Given the description of an element on the screen output the (x, y) to click on. 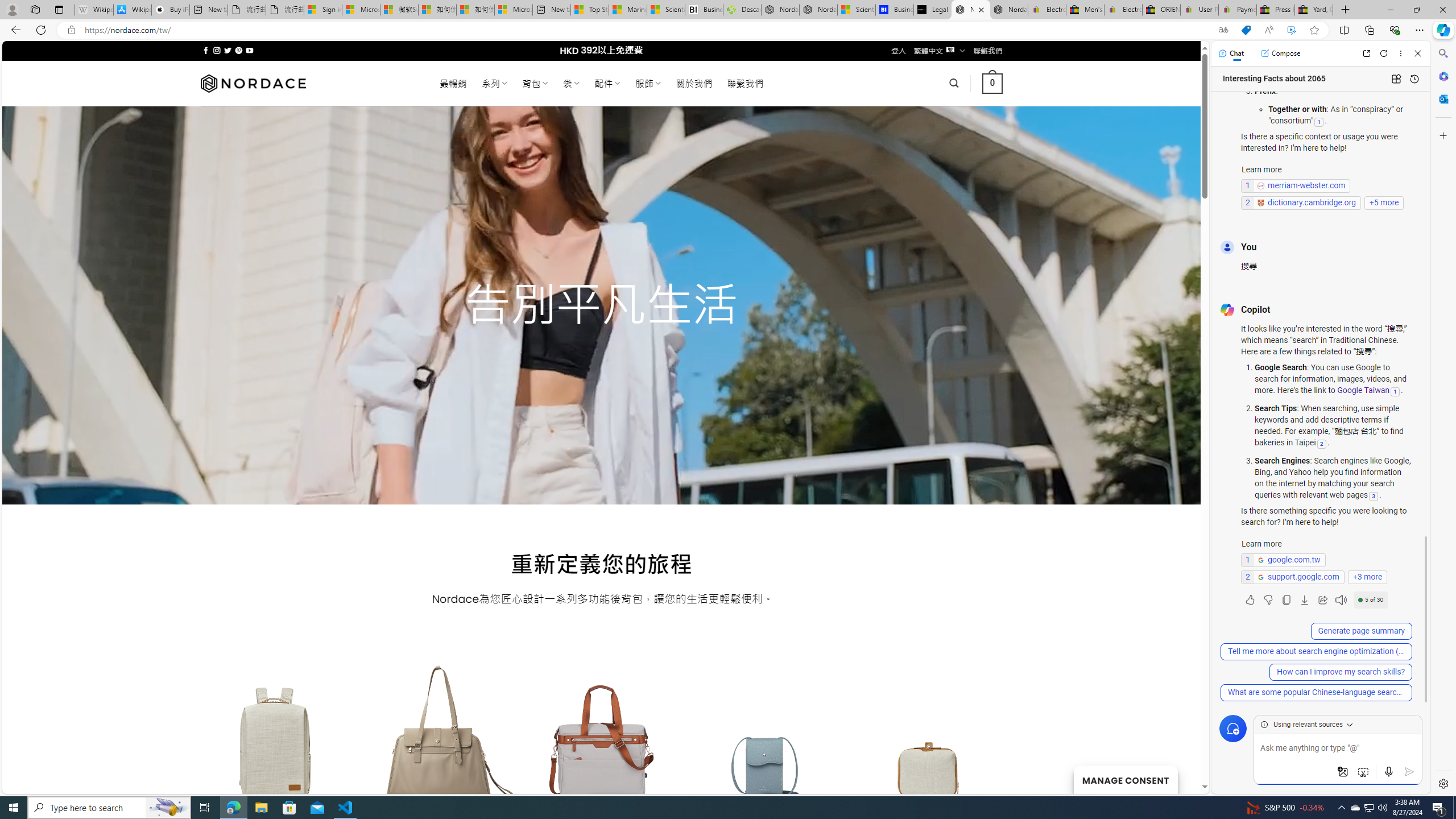
Microsoft account | Account Checkup (513, 9)
Payments Terms of Use | eBay.com (1237, 9)
